Given the description of an element on the screen output the (x, y) to click on. 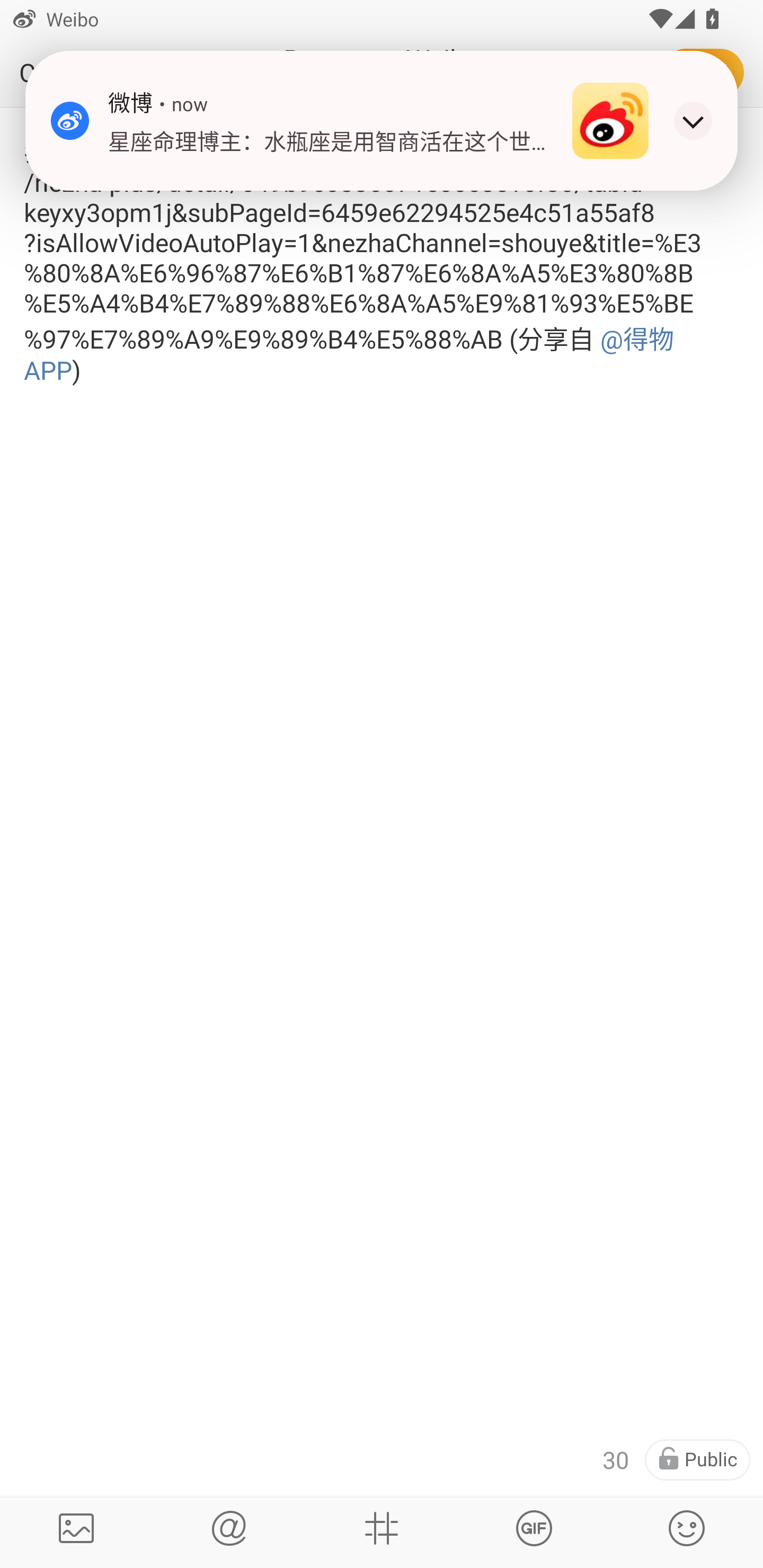
Meyou Public (697, 1459)
30 Number of words available: (615, 1459)
Pictures Upload (76, 1527)
Search (228, 1527)
Topics, movies, books, songs, places, stocks (381, 1527)
Topics, movies, books, songs, places, stocks (533, 1527)
请插入表情 (686, 1527)
